Given the description of an element on the screen output the (x, y) to click on. 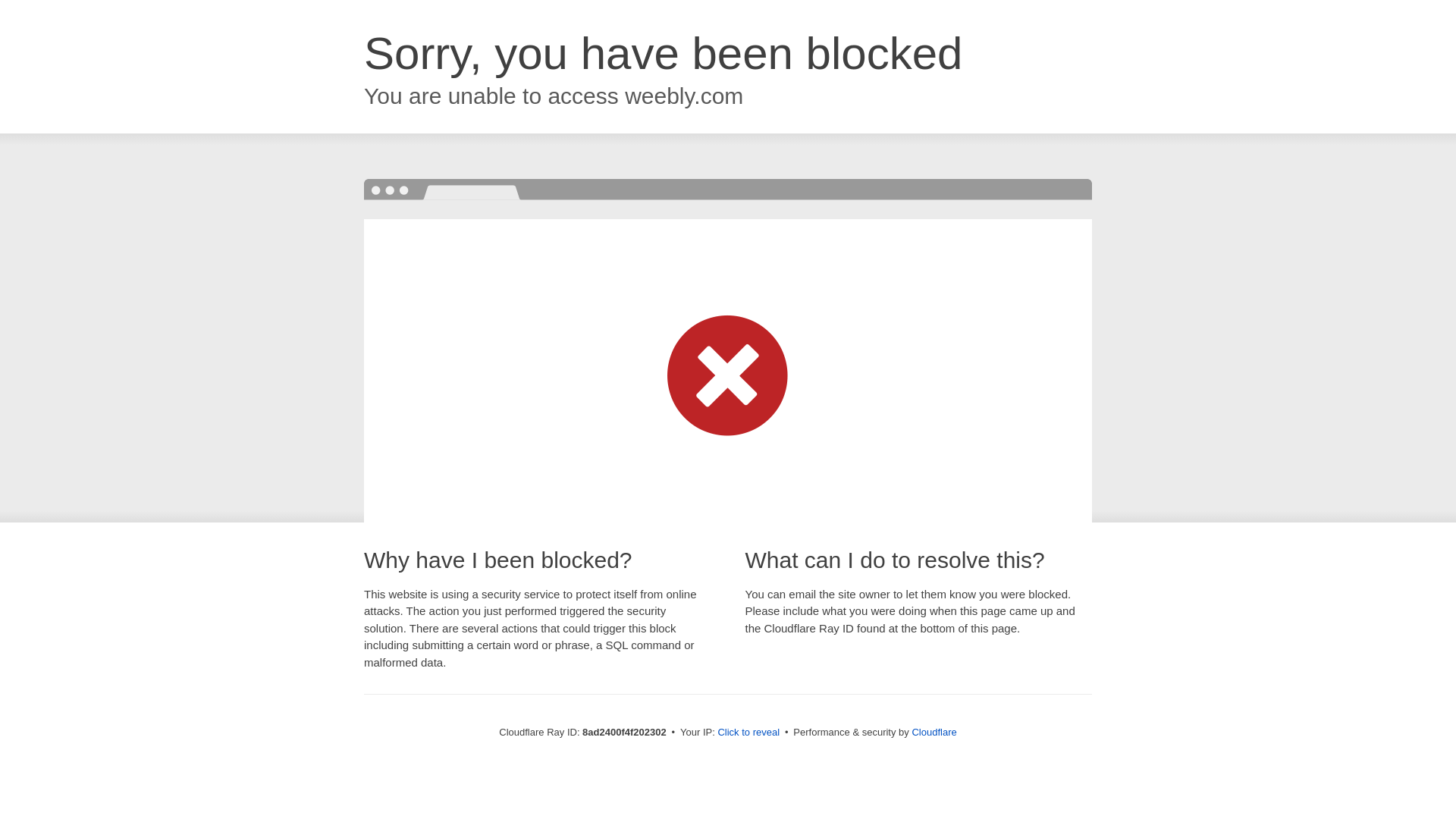
Click to reveal (747, 732)
Cloudflare (933, 731)
